Given the description of an element on the screen output the (x, y) to click on. 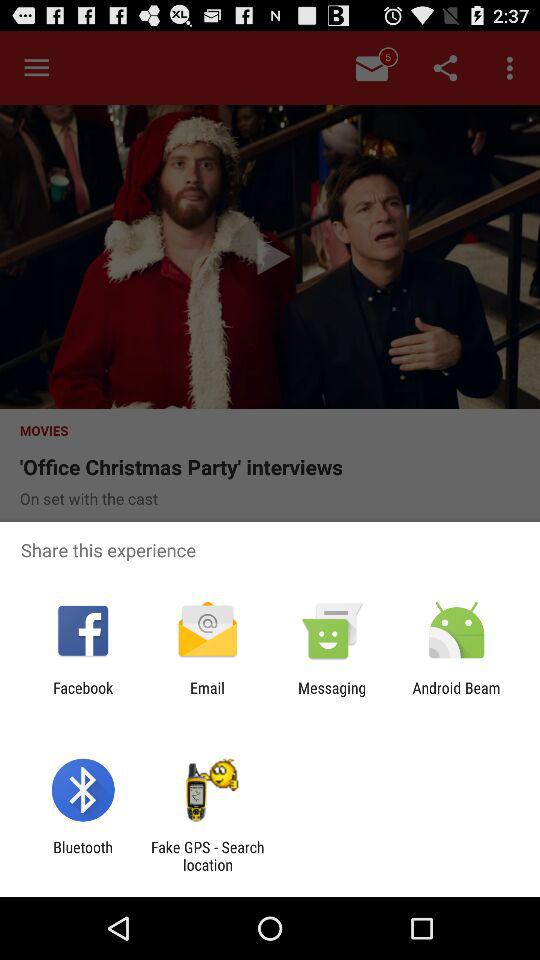
click the android beam at the bottom right corner (456, 696)
